Given the description of an element on the screen output the (x, y) to click on. 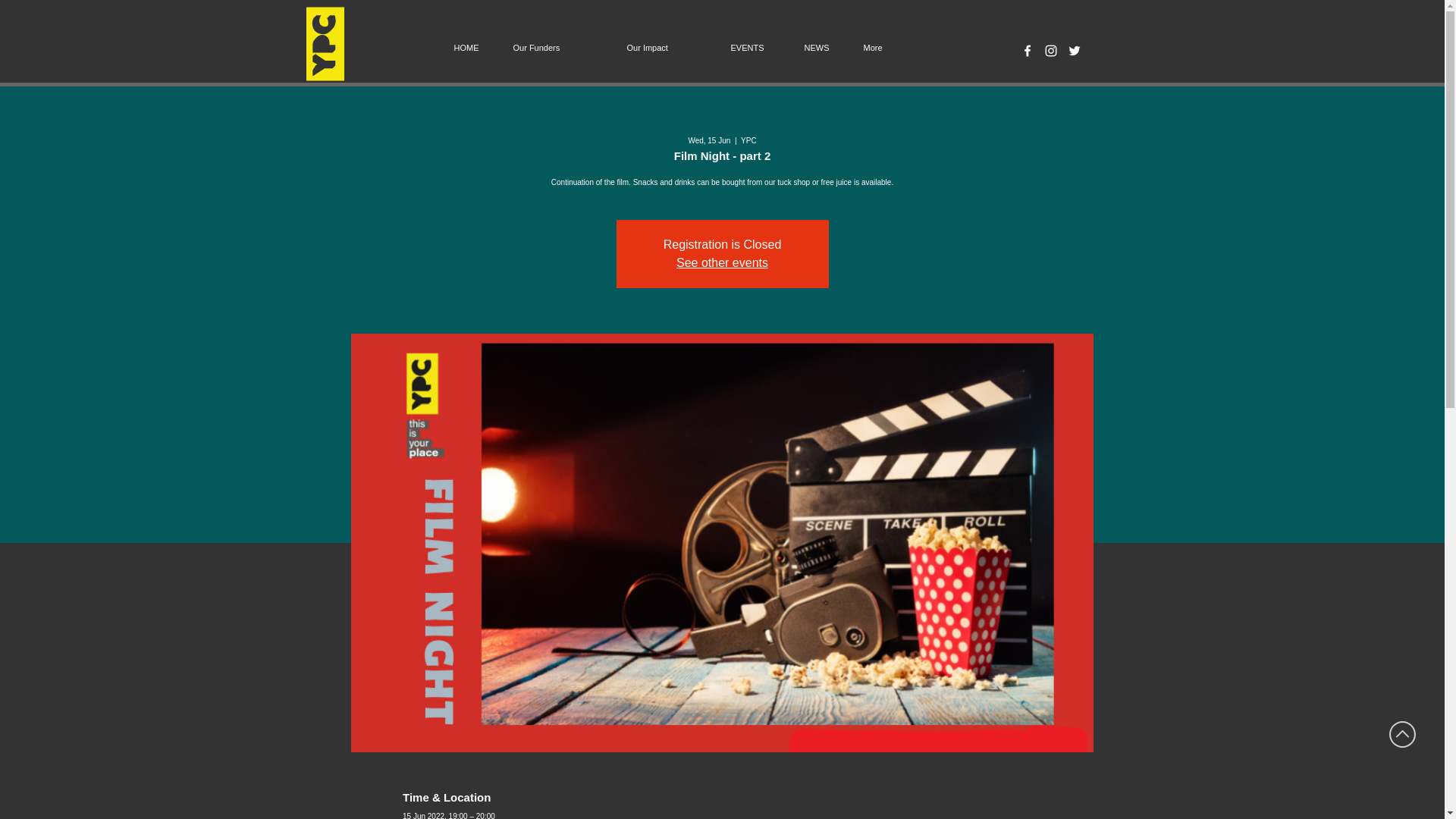
Our Funders (558, 47)
See other events (722, 262)
EVENTS (755, 47)
NEWS (822, 47)
HOME (472, 47)
Our Impact (667, 47)
